Given the description of an element on the screen output the (x, y) to click on. 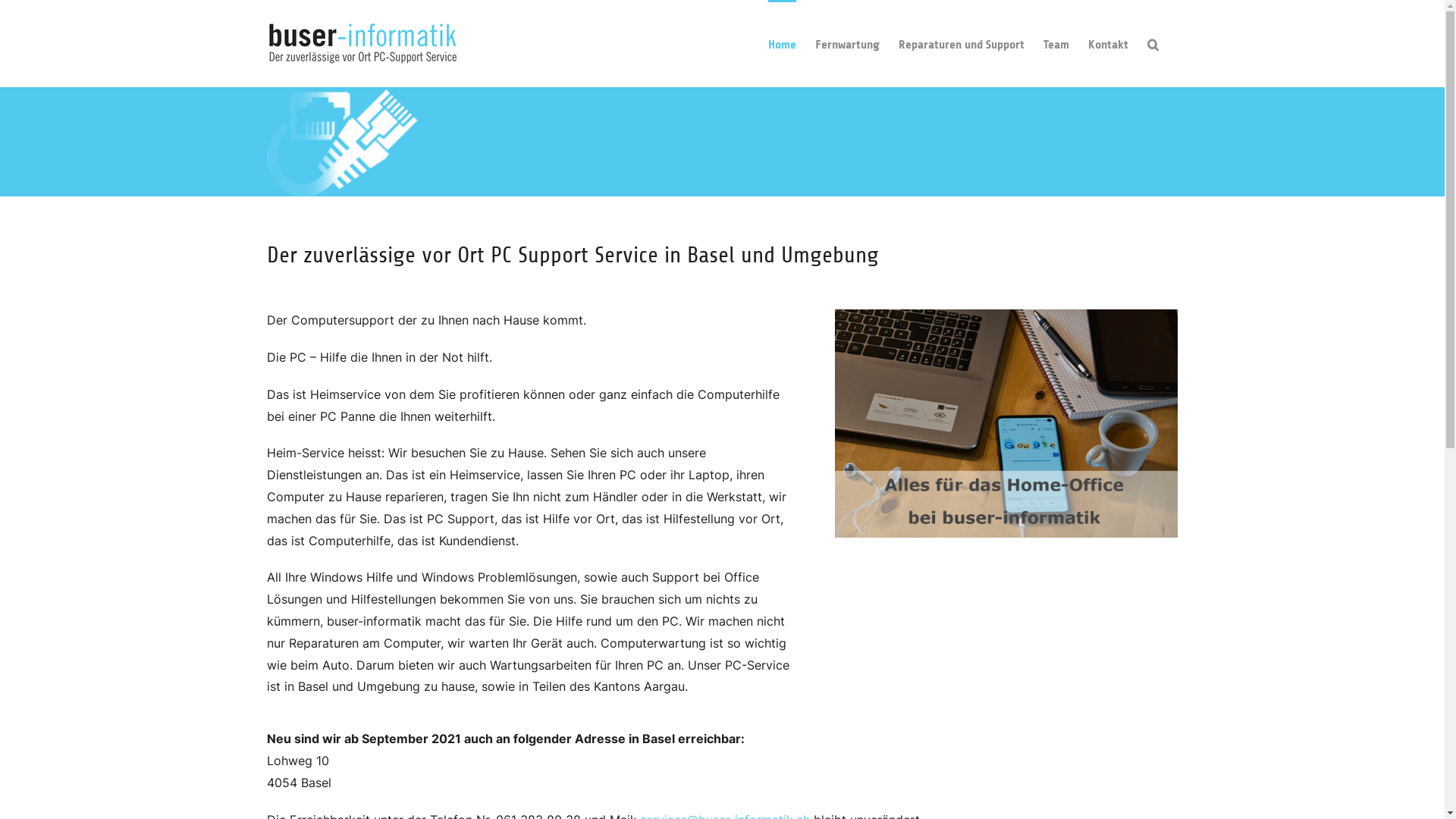
Search Element type: hover (1151, 43)
Fernwartung Element type: text (846, 43)
Reparaturen und Support Element type: text (960, 43)
Kontakt Element type: text (1107, 43)
home-office2 Element type: hover (1005, 423)
Team Element type: text (1056, 43)
Home Element type: text (781, 43)
WhatsApp-Image-2020-08-25-at-16.22.42-Kopie Element type: hover (343, 142)
